Given the description of an element on the screen output the (x, y) to click on. 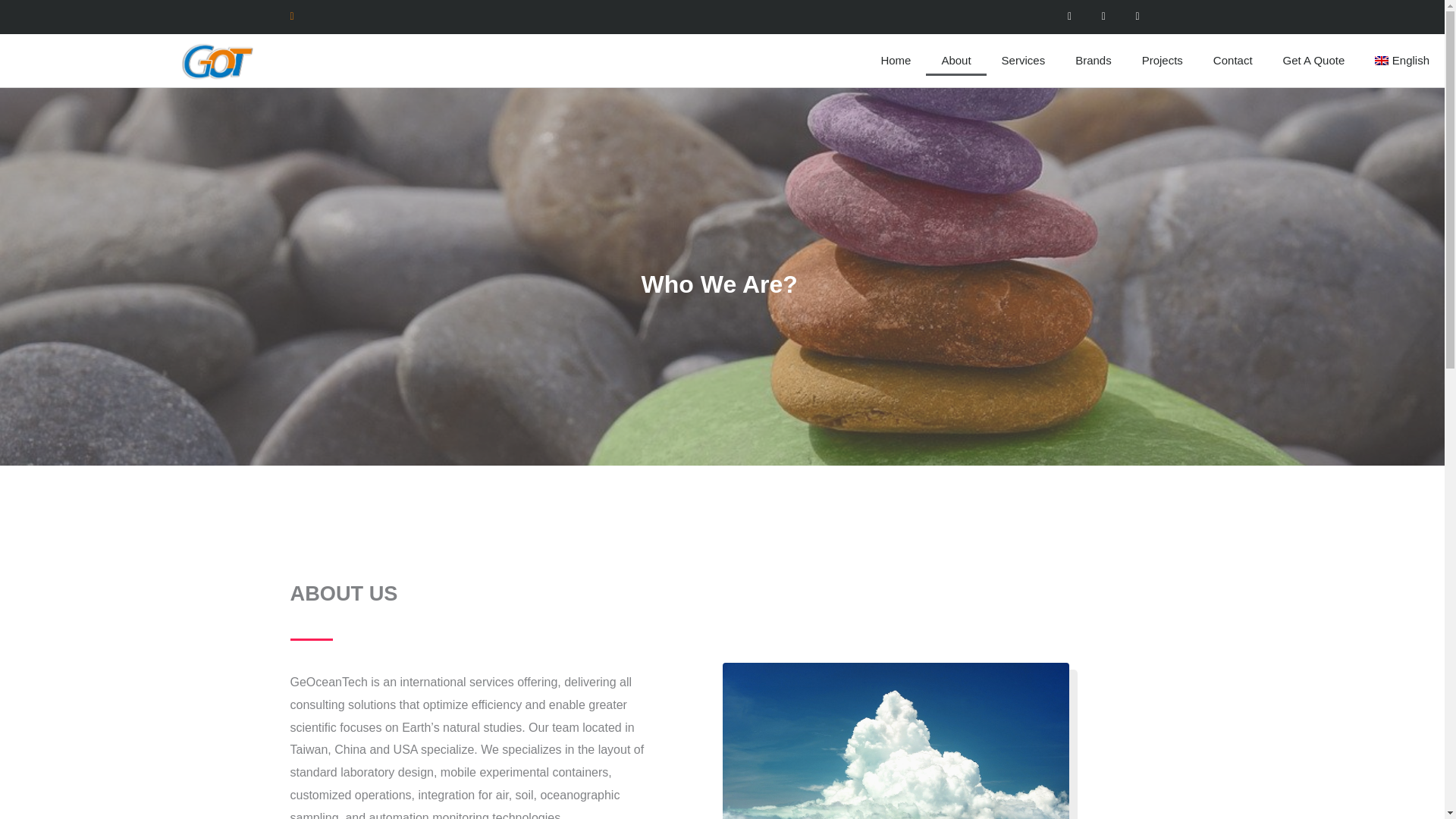
About (955, 60)
Services (1024, 60)
Brands (1092, 60)
Home (895, 60)
Contact (1233, 60)
Projects (1162, 60)
Get A Quote (1313, 60)
